Given the description of an element on the screen output the (x, y) to click on. 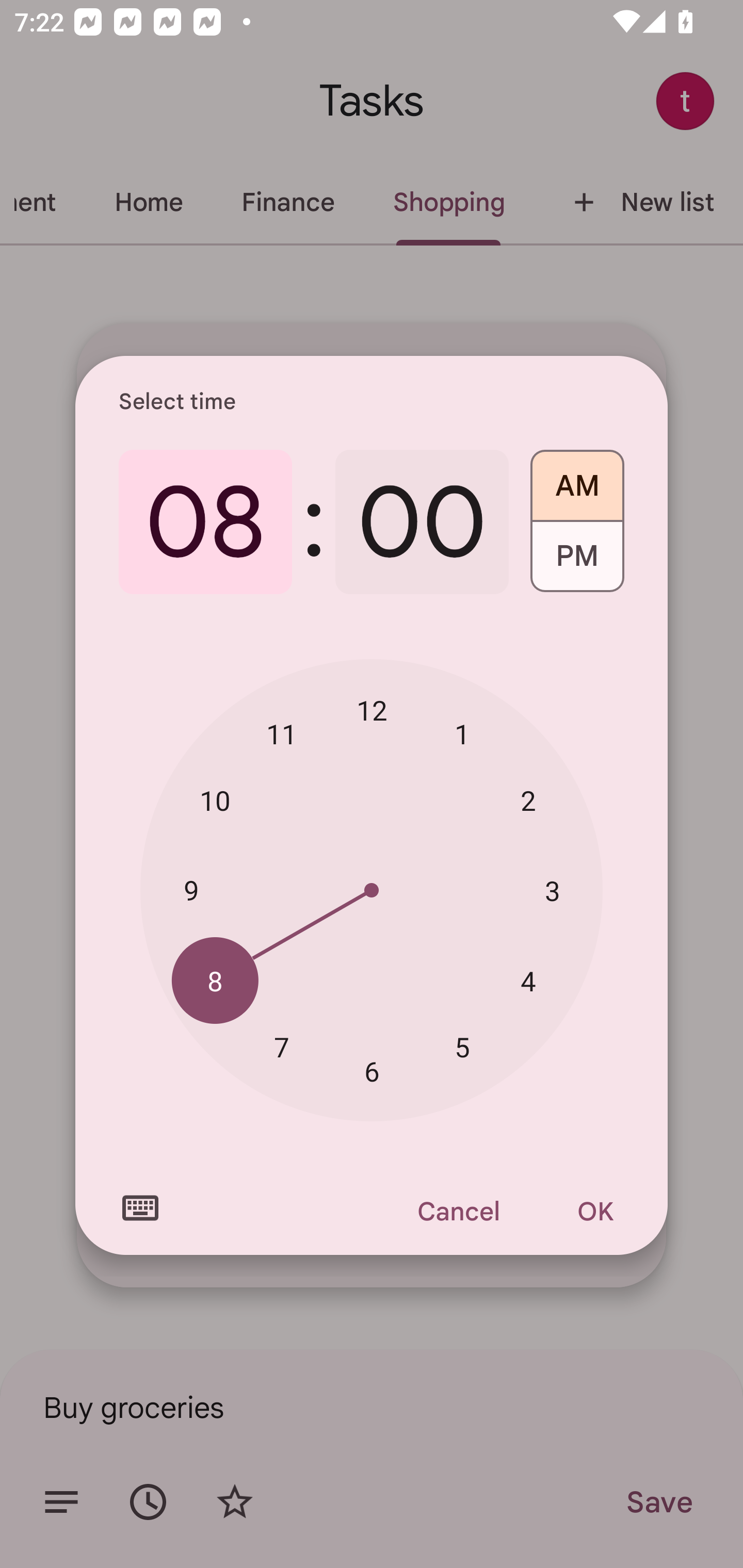
AM (577, 478)
08 8 o'clock (204, 522)
00 0 minutes (421, 522)
PM (577, 563)
12 12 o'clock (371, 710)
11 11 o'clock (281, 733)
1 1 o'clock (462, 733)
10 10 o'clock (214, 800)
2 2 o'clock (528, 800)
9 9 o'clock (190, 889)
3 3 o'clock (551, 890)
8 8 o'clock (214, 980)
4 4 o'clock (528, 980)
7 7 o'clock (281, 1046)
5 5 o'clock (462, 1046)
6 6 o'clock (371, 1071)
Switch to text input mode for the time input. (140, 1208)
Cancel (458, 1211)
OK (595, 1211)
